Given the description of an element on the screen output the (x, y) to click on. 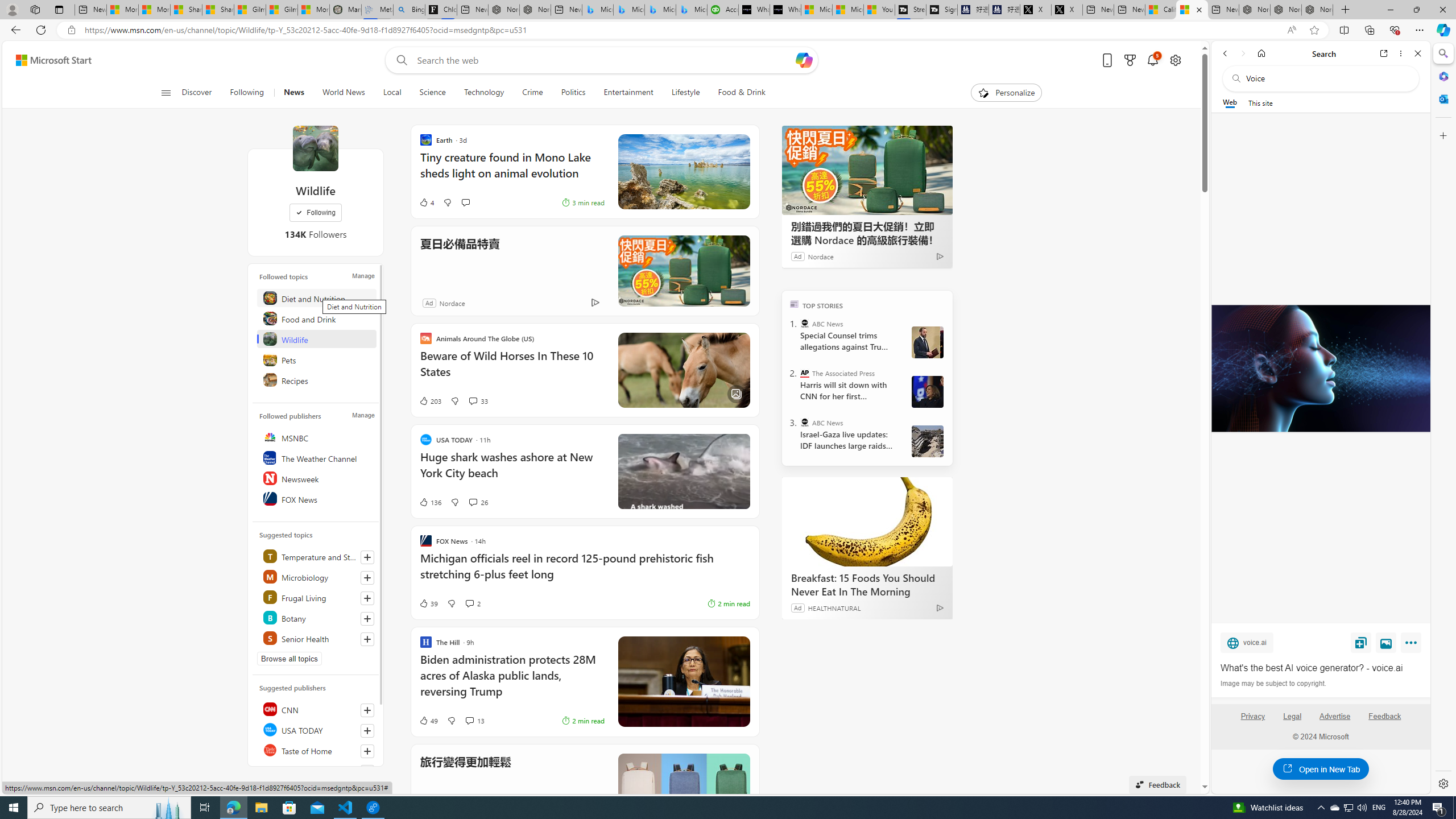
49 Like (427, 720)
Advertise (1334, 720)
Politics (573, 92)
Web search (398, 60)
Beware of Wild Horses In These 10 States (511, 369)
Science (432, 92)
TOP (794, 302)
